Given the description of an element on the screen output the (x, y) to click on. 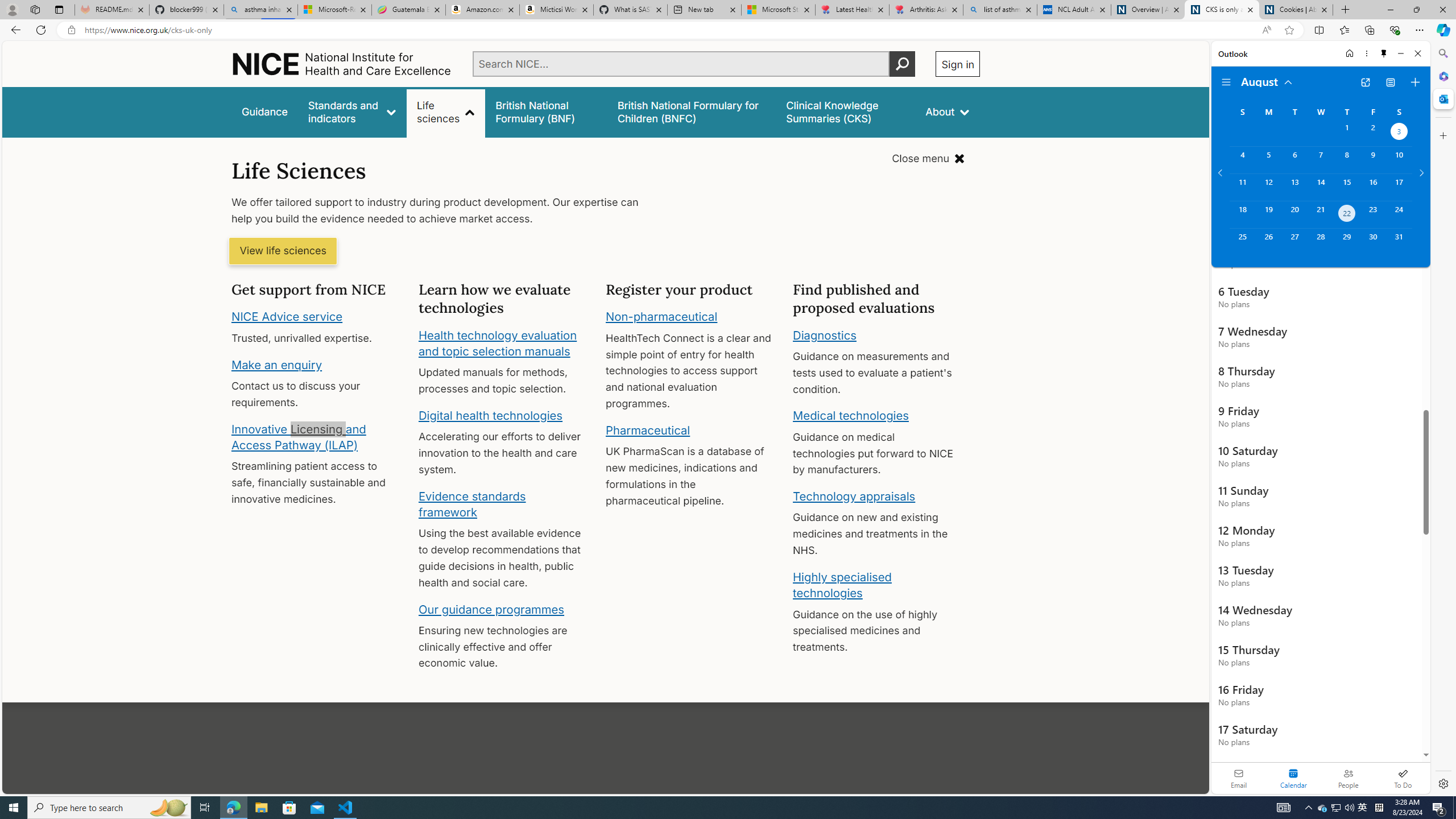
Non-pharmaceutical (661, 316)
Sunday, August 4, 2024.  (1242, 159)
Open in new tab (1365, 82)
Our guidance programmes (490, 608)
Sunday, August 11, 2024.  (1242, 186)
Unpin side pane (1383, 53)
Microsoft 365 (1442, 76)
Microsoft-Report a Concern to Bing (334, 9)
Monday, August 12, 2024.  (1268, 186)
